Given the description of an element on the screen output the (x, y) to click on. 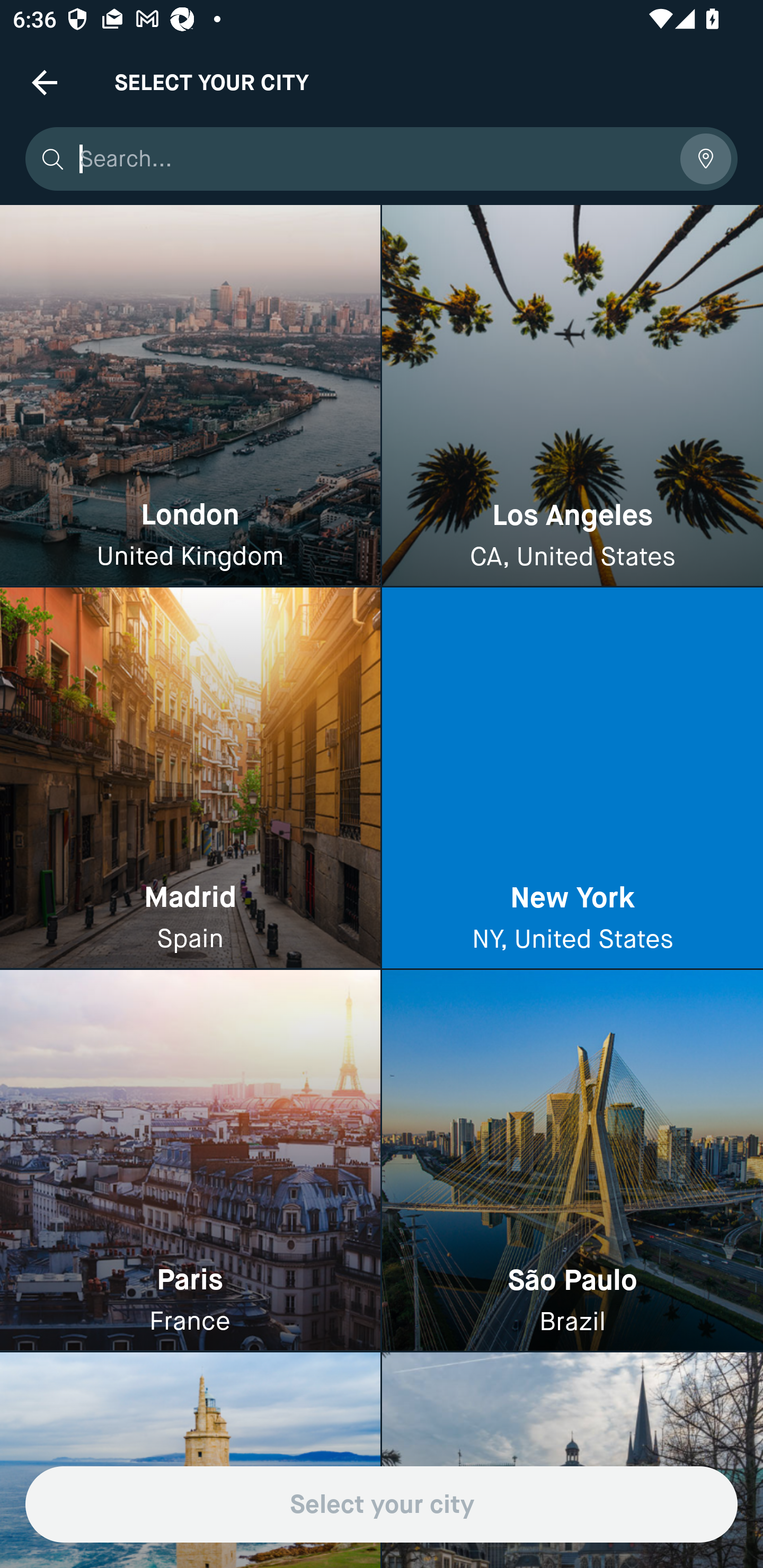
Navigate up (44, 82)
Search... (373, 159)
London United Kingdom (190, 395)
Los Angeles CA, United States (572, 395)
Madrid Spain (190, 778)
New York NY, United States (572, 778)
Paris France (190, 1160)
São Paulo Brazil (572, 1160)
Select your city (381, 1504)
